Given the description of an element on the screen output the (x, y) to click on. 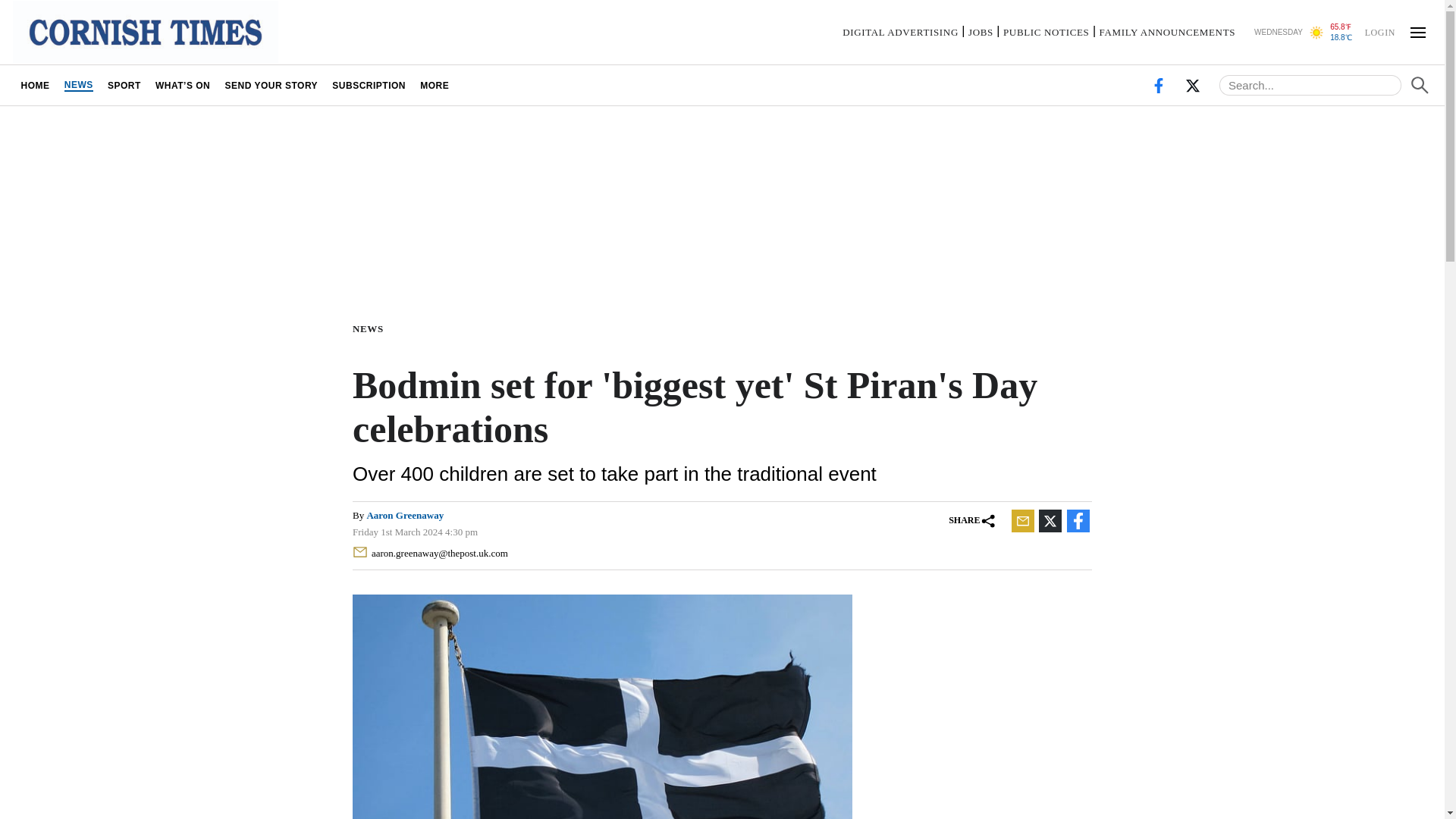
NEWS (371, 328)
FAMILY ANNOUNCEMENTS (1166, 32)
HOME (34, 85)
Aaron Greenaway (405, 514)
SPORT (124, 85)
NEWS (78, 85)
LOGIN (1379, 31)
MORE (435, 85)
SEND YOUR STORY (270, 85)
SUBSCRIPTION (368, 85)
